Given the description of an element on the screen output the (x, y) to click on. 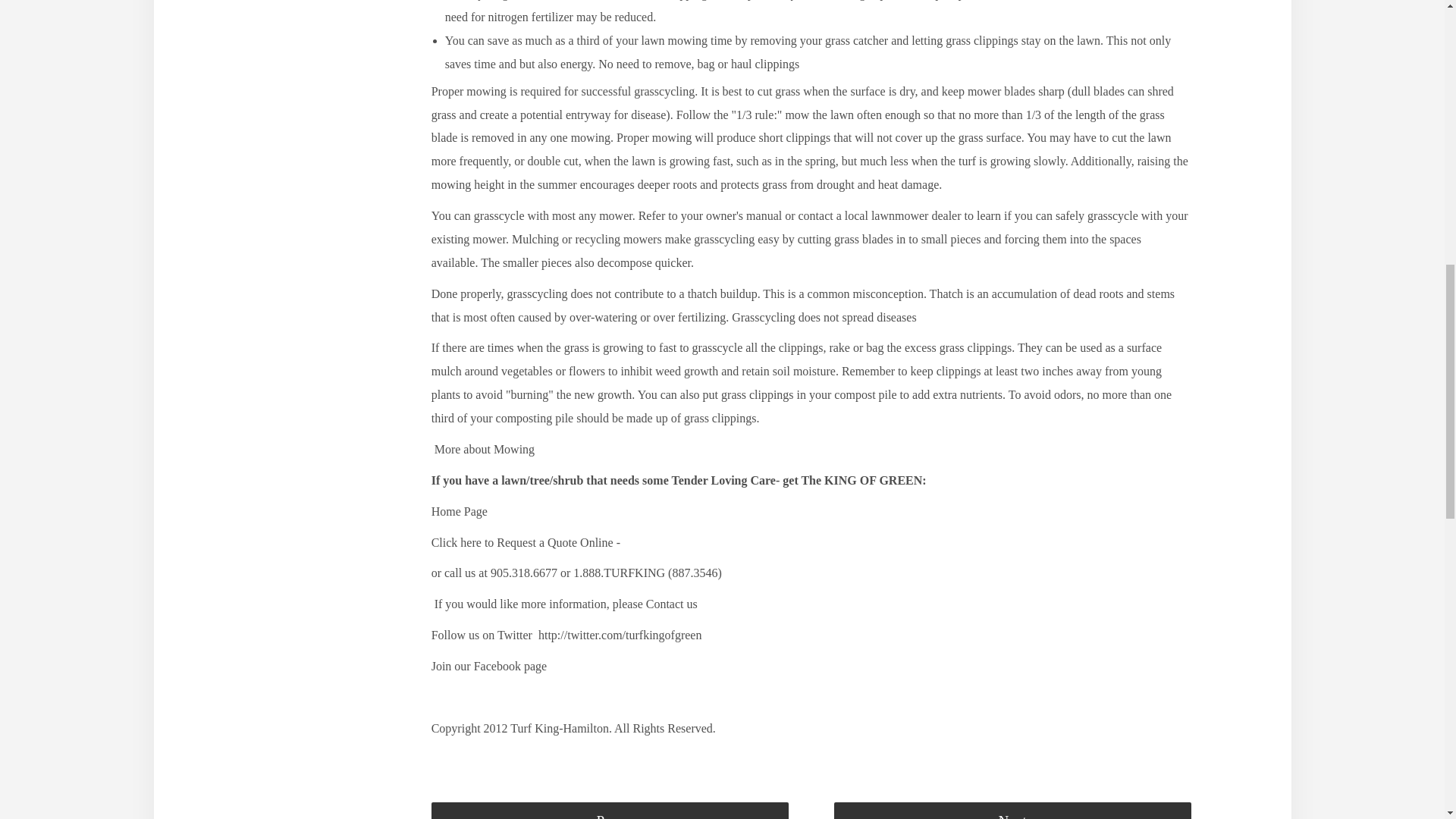
Click here to Request a Quote Online  (522, 542)
Contact us (671, 603)
Mowing (512, 449)
Join our Facebook page (488, 666)
Home Page (458, 511)
Next (1012, 810)
Prev (609, 810)
